Given the description of an element on the screen output the (x, y) to click on. 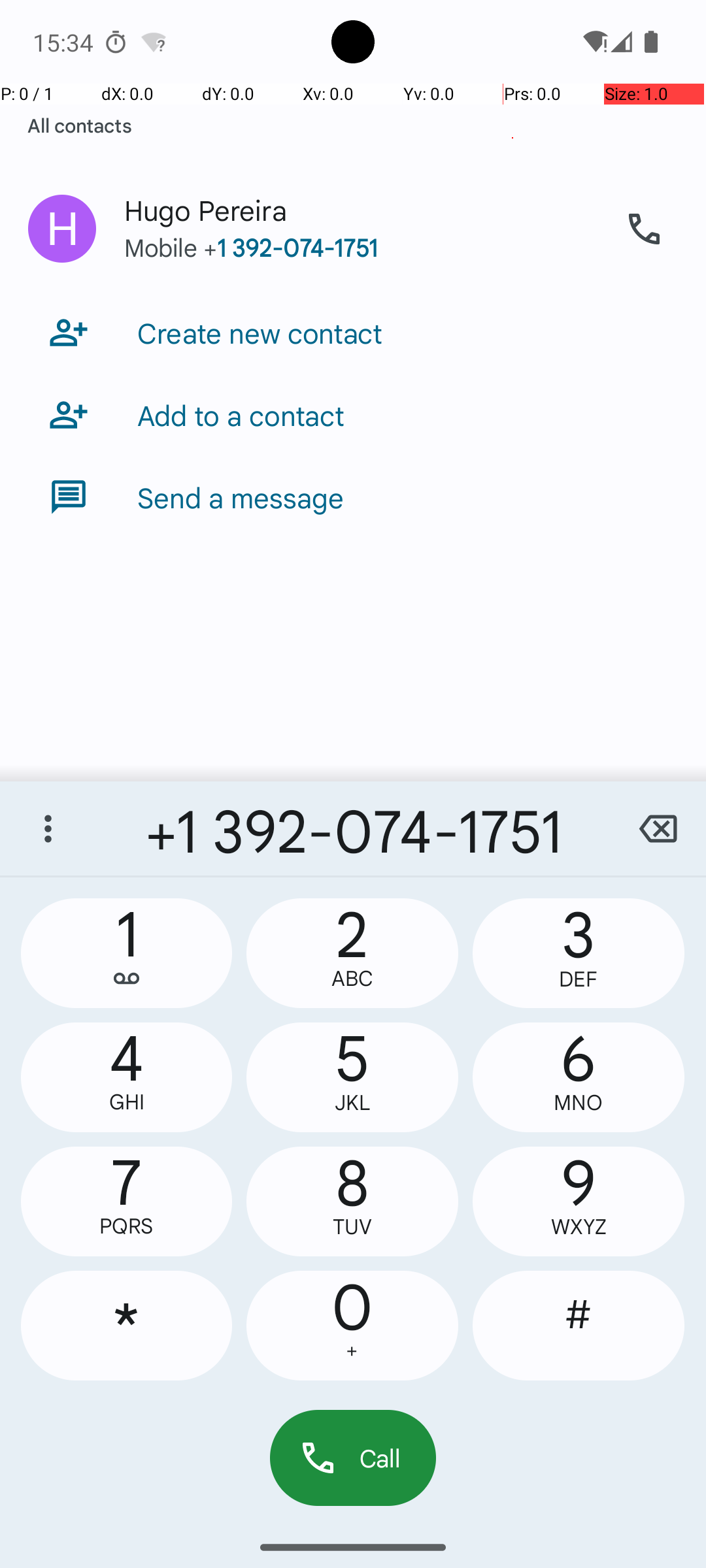
+1 392-074-1751 Element type: android.widget.EditText (352, 828)
All contacts Element type: android.widget.TextView (79, 124)
Quick contact for Hugo Pereira Element type: android.widget.QuickContactBadge (62, 228)
Mobile ‪+1 392-074-1751‬ Element type: android.widget.TextView (360, 260)
